Given the description of an element on the screen output the (x, y) to click on. 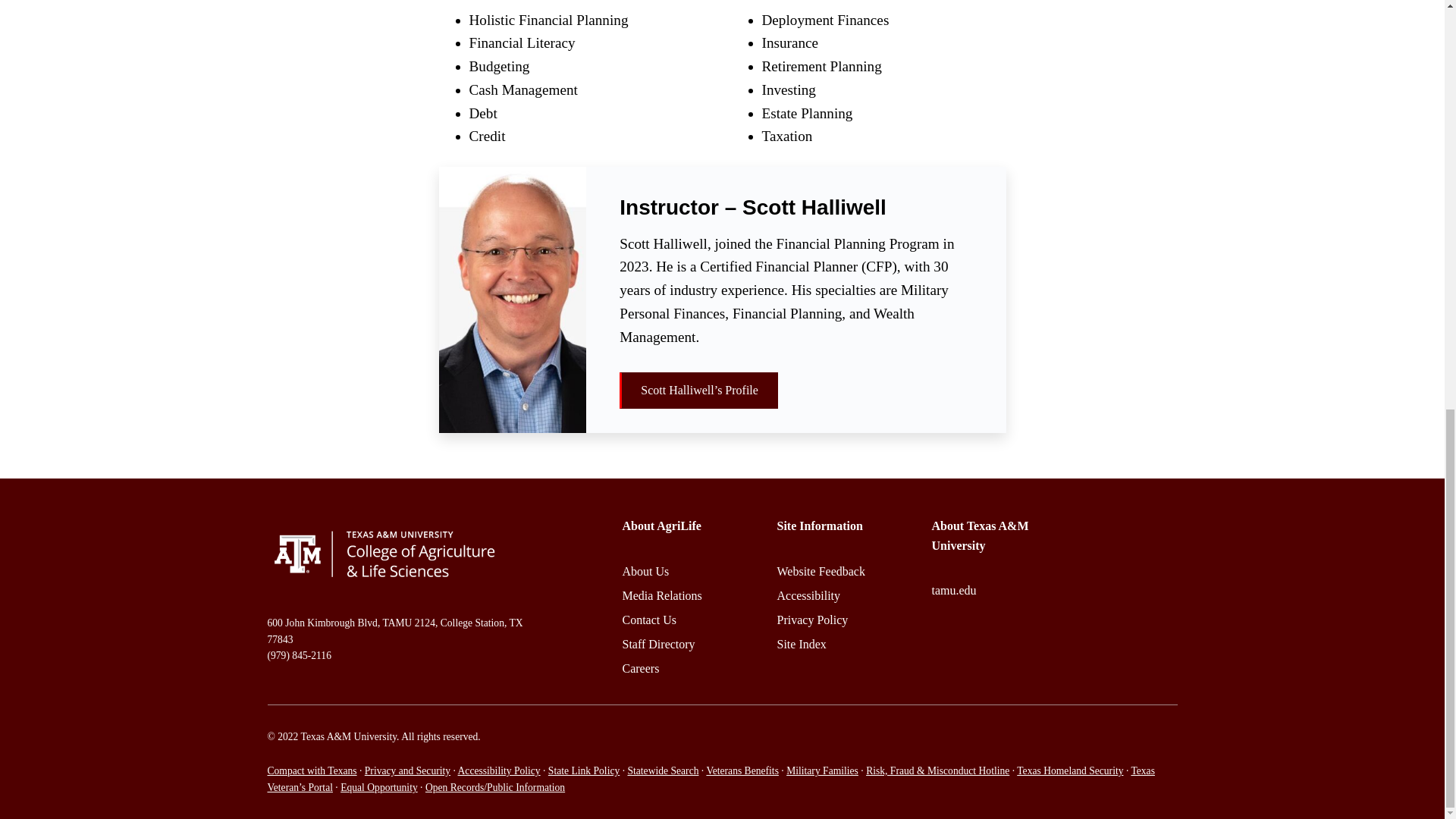
Contact Us (649, 619)
Military Families (822, 770)
tamu.edu (953, 590)
Careers (640, 667)
Staff Directory (657, 644)
Privacy Policy (811, 619)
About Us (644, 571)
Accessibility Policy (499, 770)
Privacy and Security (407, 770)
Equal Opportunity (378, 787)
Statewide Search (662, 770)
Compact with Texans (311, 770)
Website Feedback (820, 571)
Site Index (800, 644)
Texas Homeland Security (1069, 770)
